Given the description of an element on the screen output the (x, y) to click on. 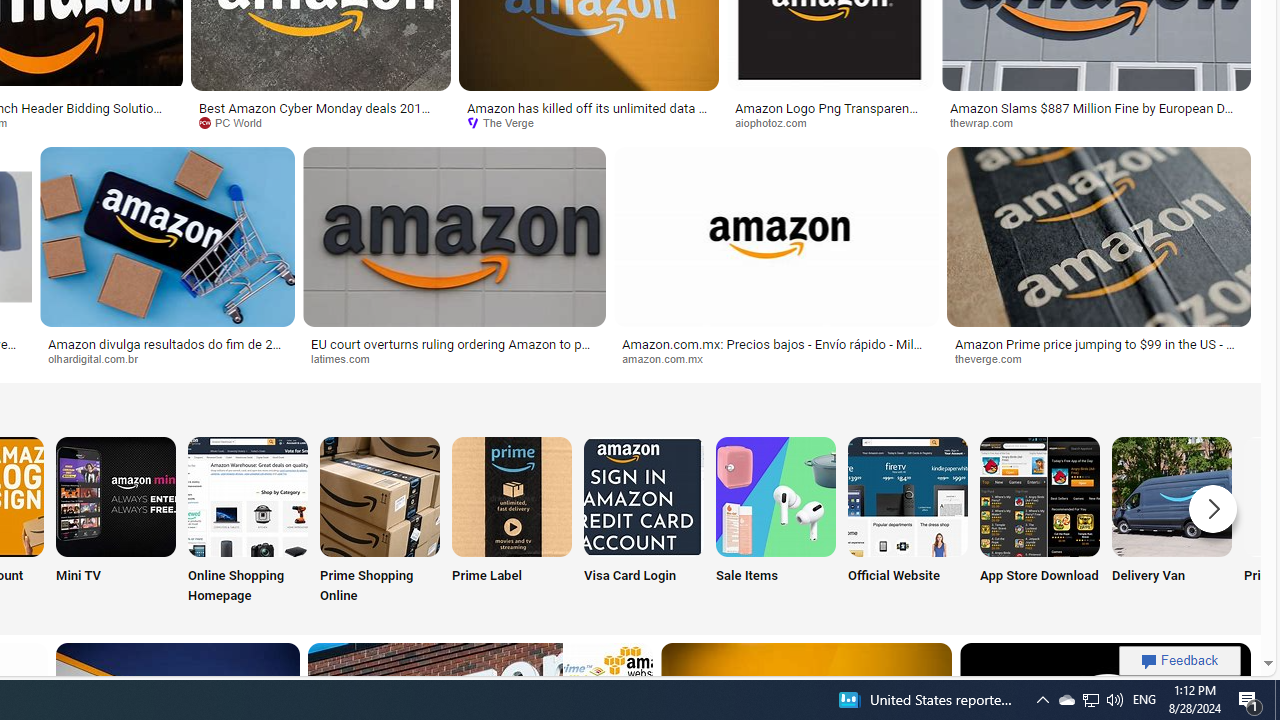
Image result for amazon (1098, 236)
